Given the description of an element on the screen output the (x, y) to click on. 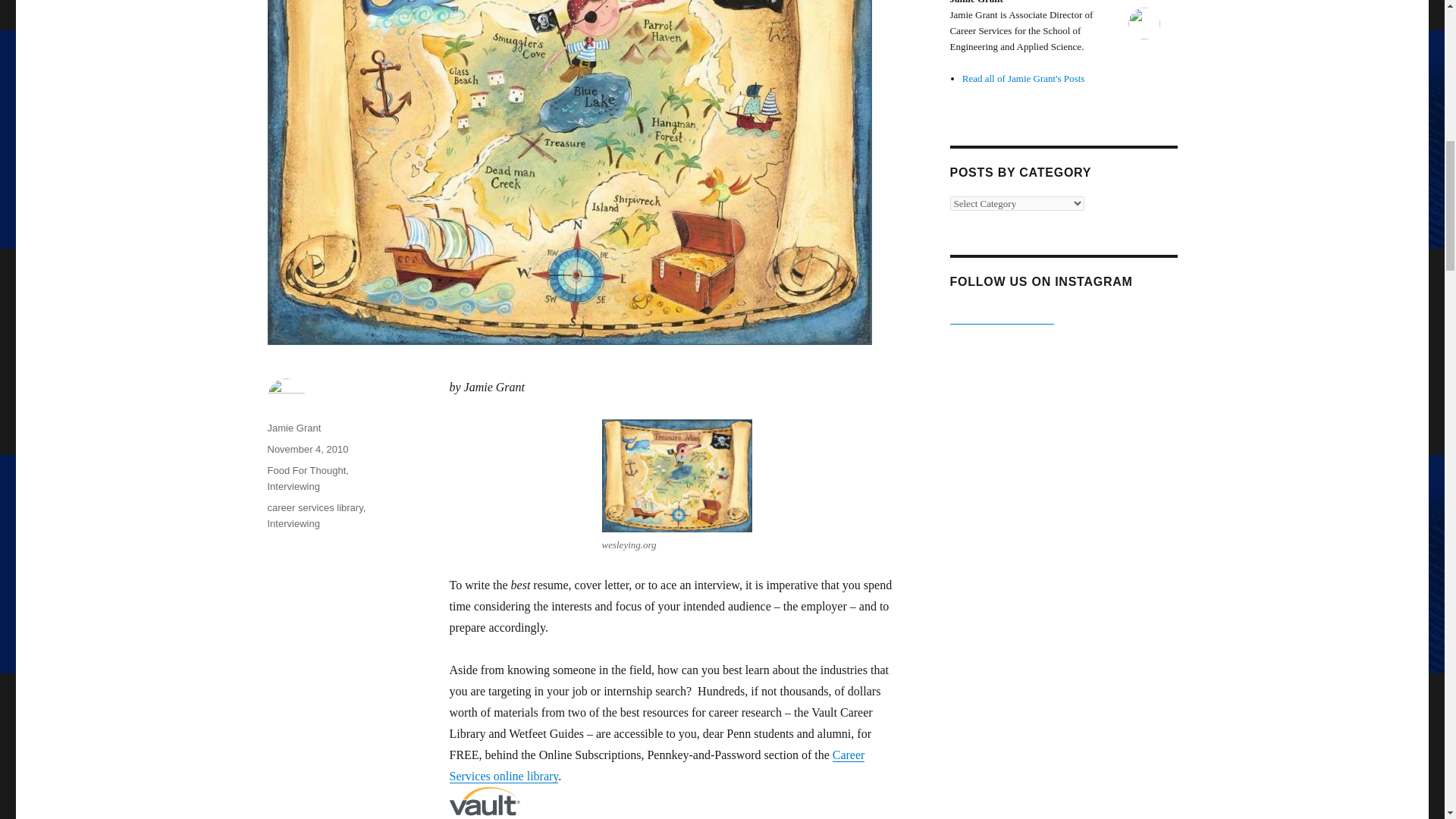
vault-logo (483, 801)
November 4, 2010 (306, 449)
Career Services online library (656, 765)
treasure-map21 (677, 475)
Read all of Jamie Grant's Posts (1023, 78)
Food For Thought (306, 470)
Jamie Grant (293, 428)
Interviewing (292, 523)
Interviewing (292, 486)
career services library (314, 507)
